Given the description of an element on the screen output the (x, y) to click on. 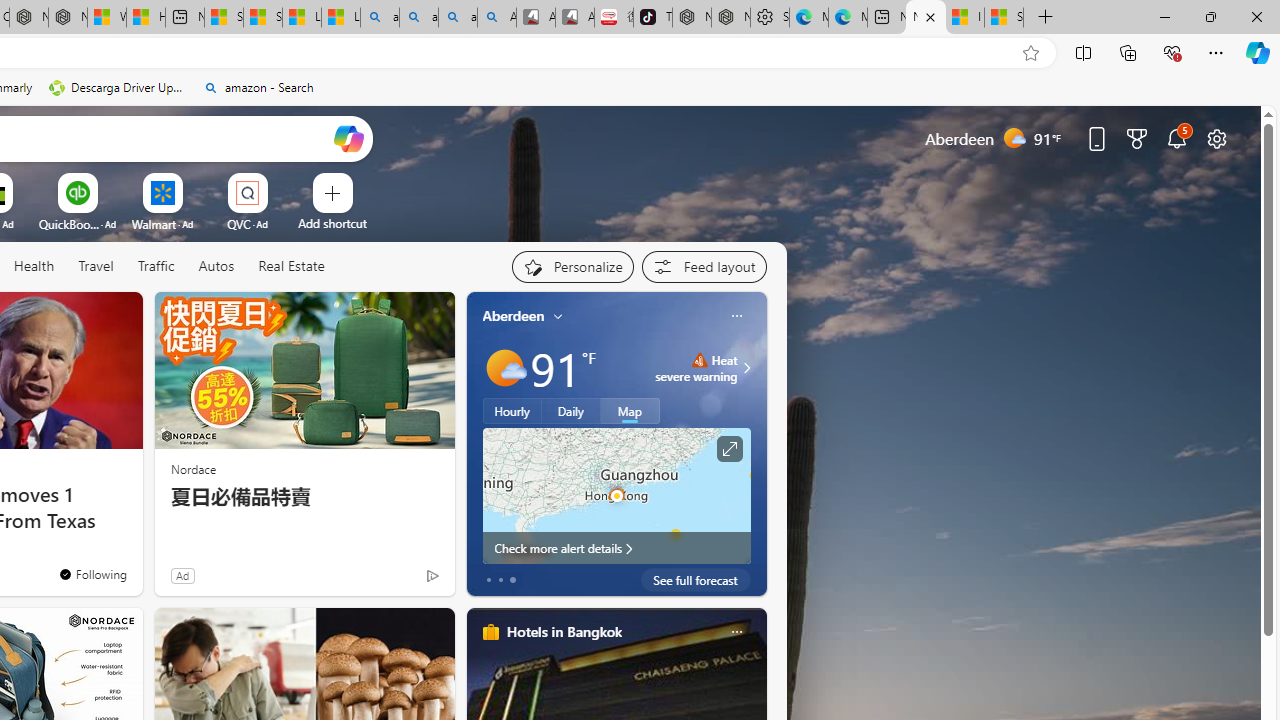
You're following The Weather Channel (390, 579)
Personalize your feed" (571, 266)
Larger map  (616, 495)
Hide this story (82, 315)
Descarga Driver Updater (118, 88)
